Given the description of an element on the screen output the (x, y) to click on. 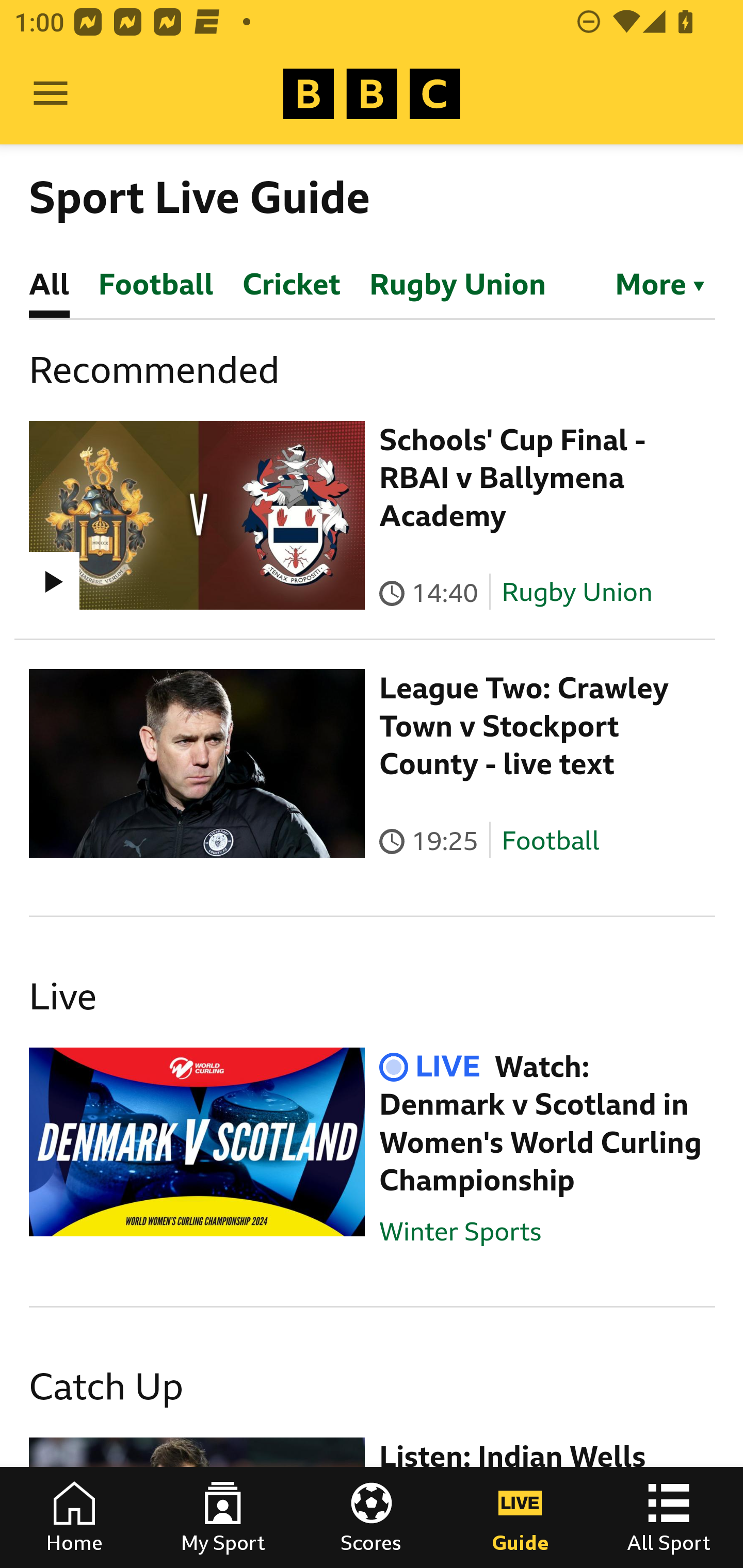
Open Menu (50, 93)
Schools' Cup Final - RBAI v Ballymena Academy (512, 477)
Rugby Union (576, 591)
Football (550, 840)
Winter Sports (459, 1230)
Home (74, 1517)
My Sport (222, 1517)
Scores (371, 1517)
All Sport (668, 1517)
